Given the description of an element on the screen output the (x, y) to click on. 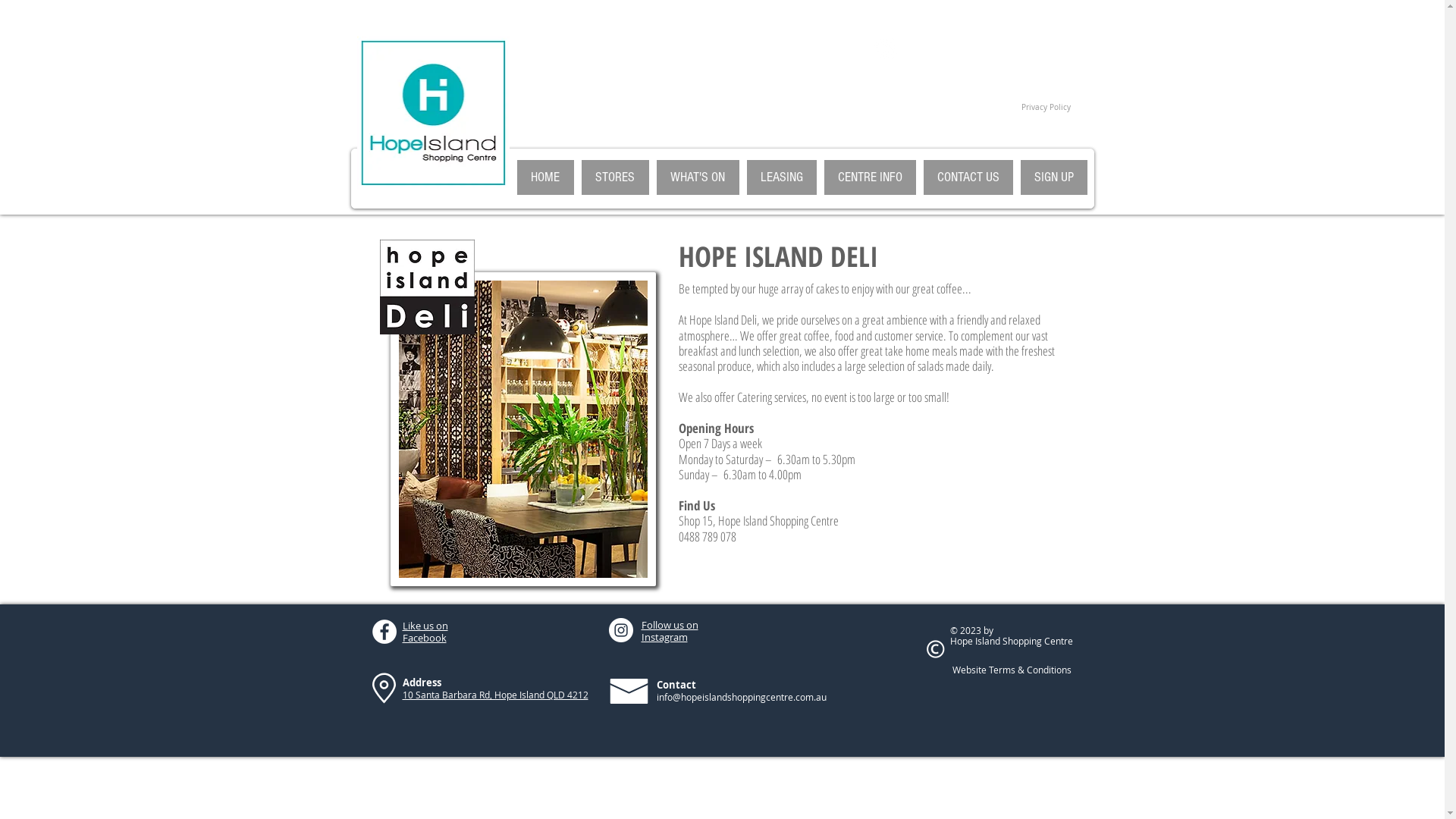
10 Santa Barbara Rd, Hope Island QLD 4212 Element type: text (494, 694)
Hope-Island-Deli_Logo.jpg Element type: hover (426, 286)
Follow us on Instagram Element type: text (669, 630)
info@hopeislandshoppingcentre.com.au Element type: text (741, 696)
SIGN UP Element type: text (1053, 177)
Like us on Facebook Element type: text (424, 631)
CENTRE INFO Element type: text (869, 177)
WHAT'S ON Element type: text (697, 177)
Privacy Policy Element type: text (1045, 105)
Website Terms & Conditions Element type: text (1011, 669)
HOME Element type: text (545, 177)
CONTACT US Element type: text (968, 177)
logo.jpg Element type: hover (432, 112)
STORES Element type: text (614, 177)
LEASING Element type: text (780, 177)
Hope-Island-Deli.jpg Element type: hover (522, 429)
